Given the description of an element on the screen output the (x, y) to click on. 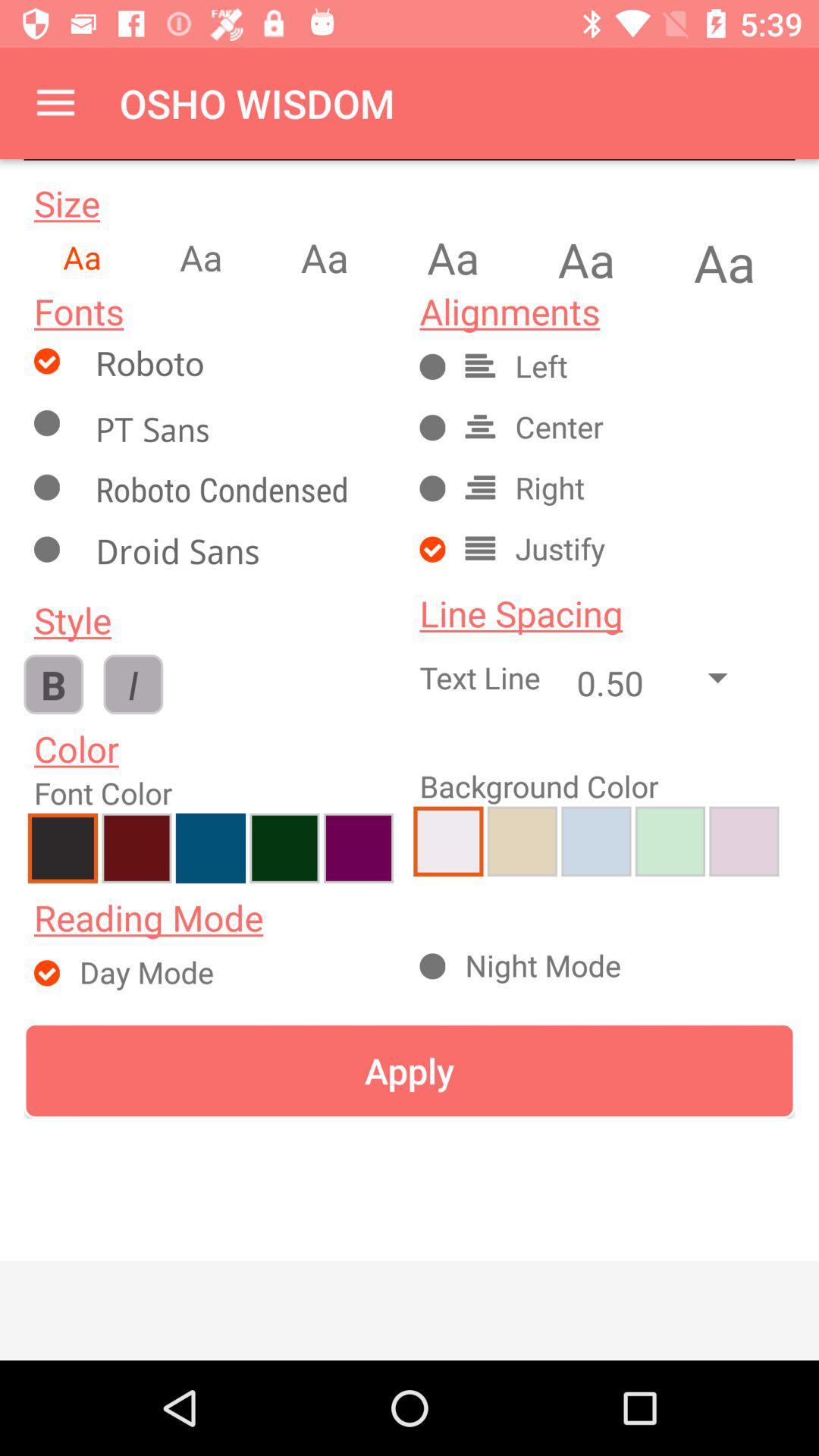
changes the background color to a light brown (744, 841)
